Given the description of an element on the screen output the (x, y) to click on. 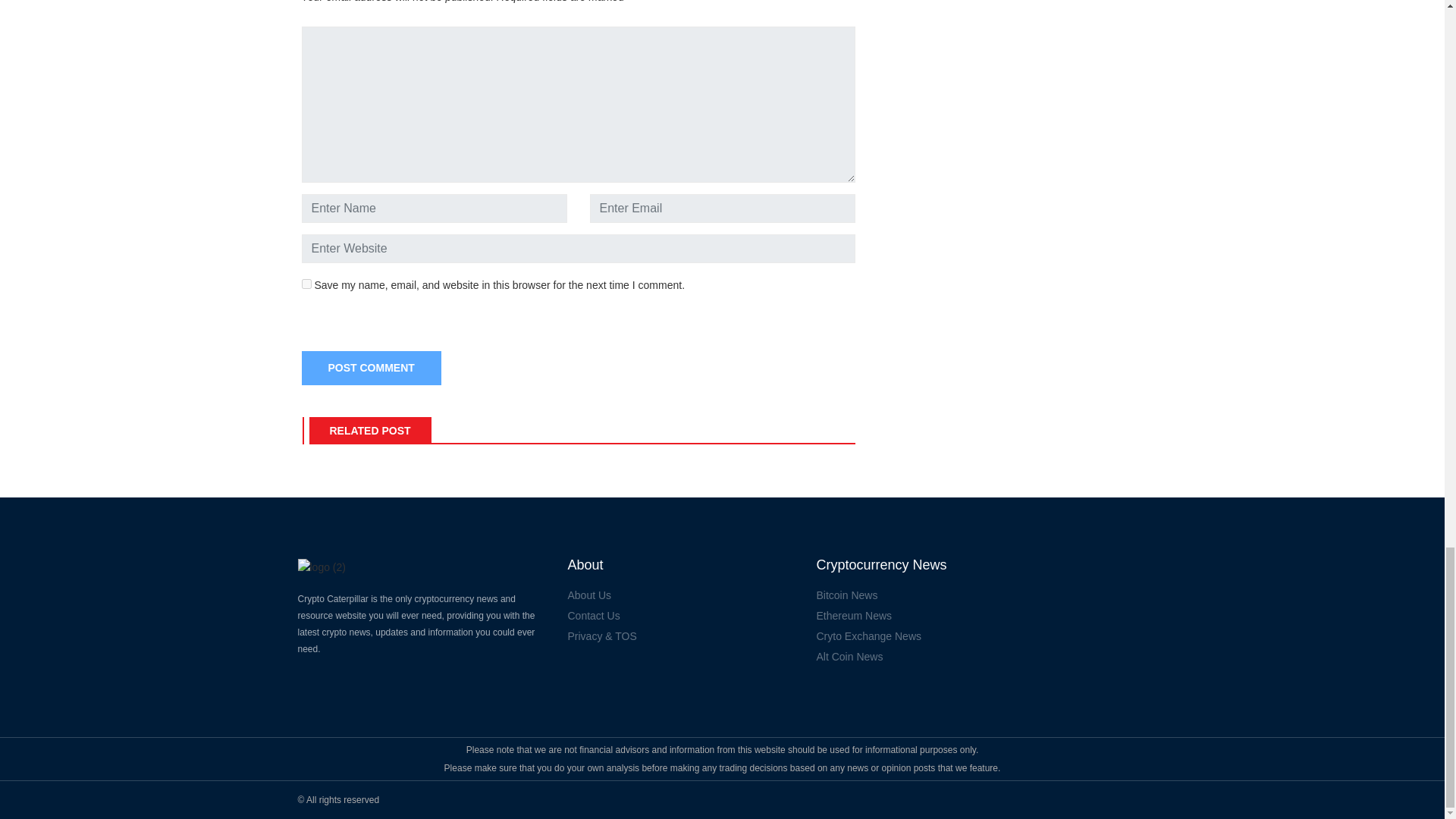
yes (306, 284)
Post Comment (371, 367)
Post Comment (371, 367)
